Given the description of an element on the screen output the (x, y) to click on. 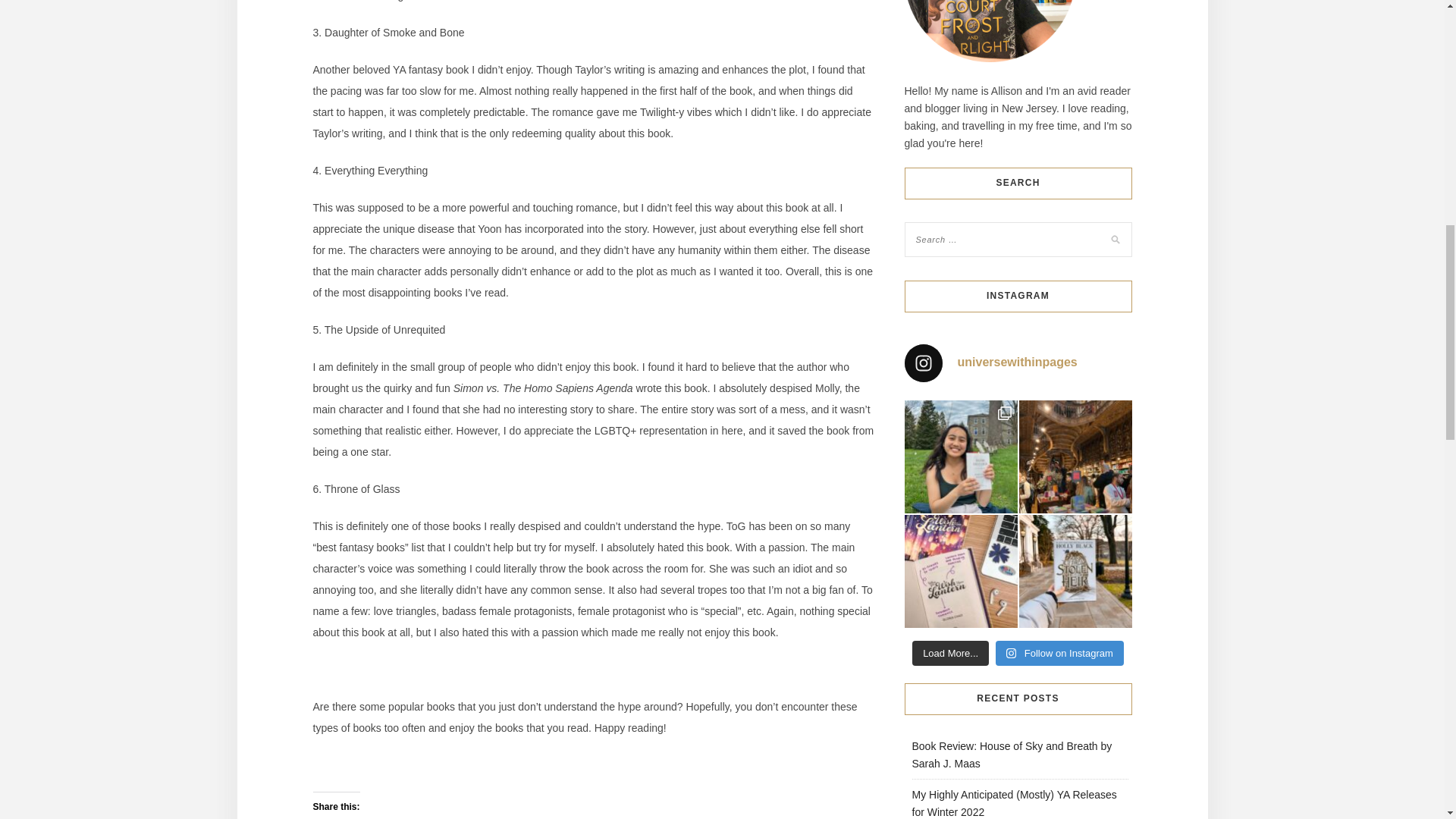
universewithinpages (1017, 362)
Book Review: House of Sky and Breath by Sarah J. Maas (1011, 754)
About Me (989, 31)
Follow on Instagram (1059, 653)
Load More... (950, 653)
